Given the description of an element on the screen output the (x, y) to click on. 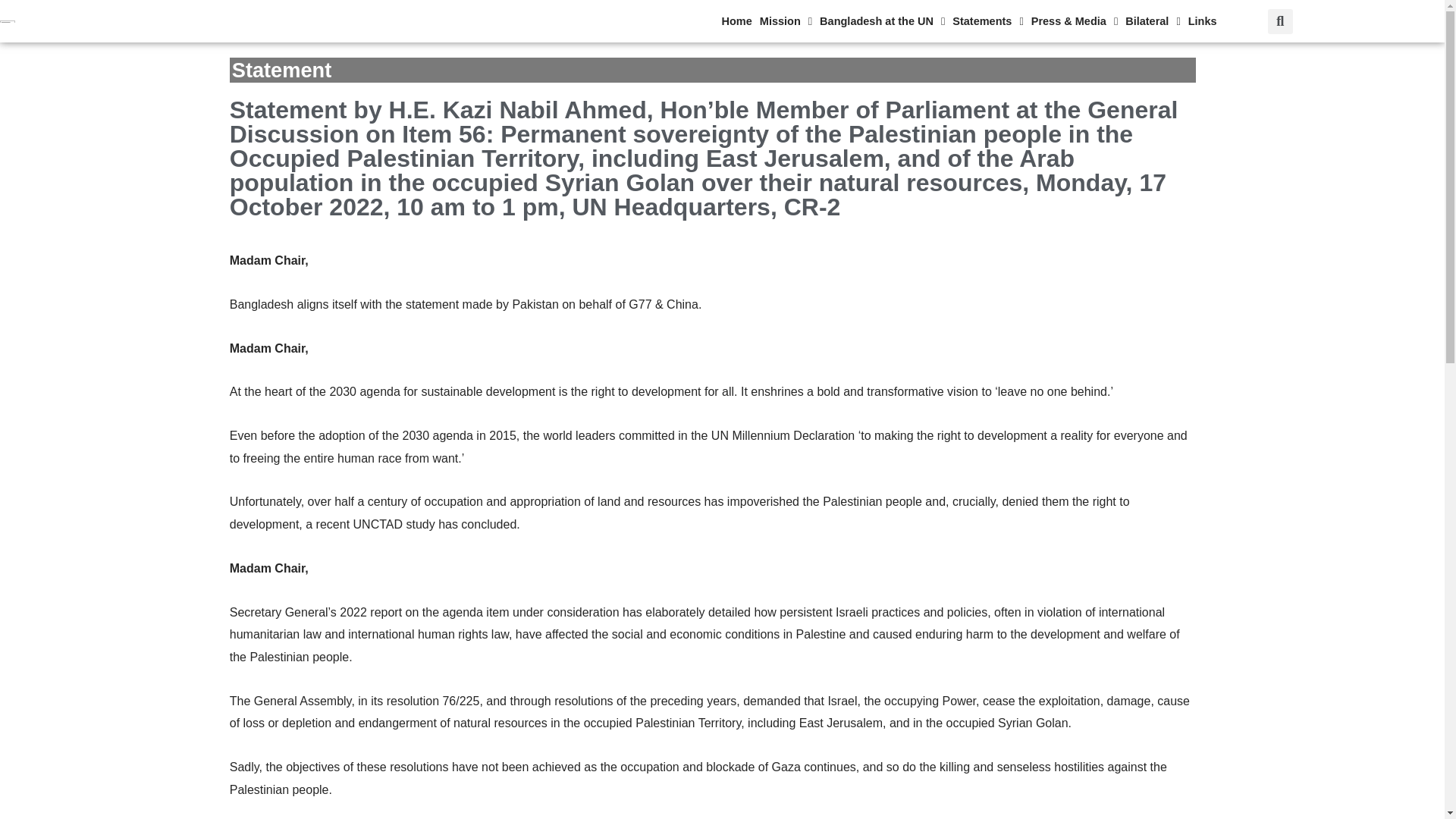
Statements (987, 21)
Bilateral (1153, 21)
Mission (785, 21)
Bangladesh at the UN (882, 21)
Home (736, 21)
